Given the description of an element on the screen output the (x, y) to click on. 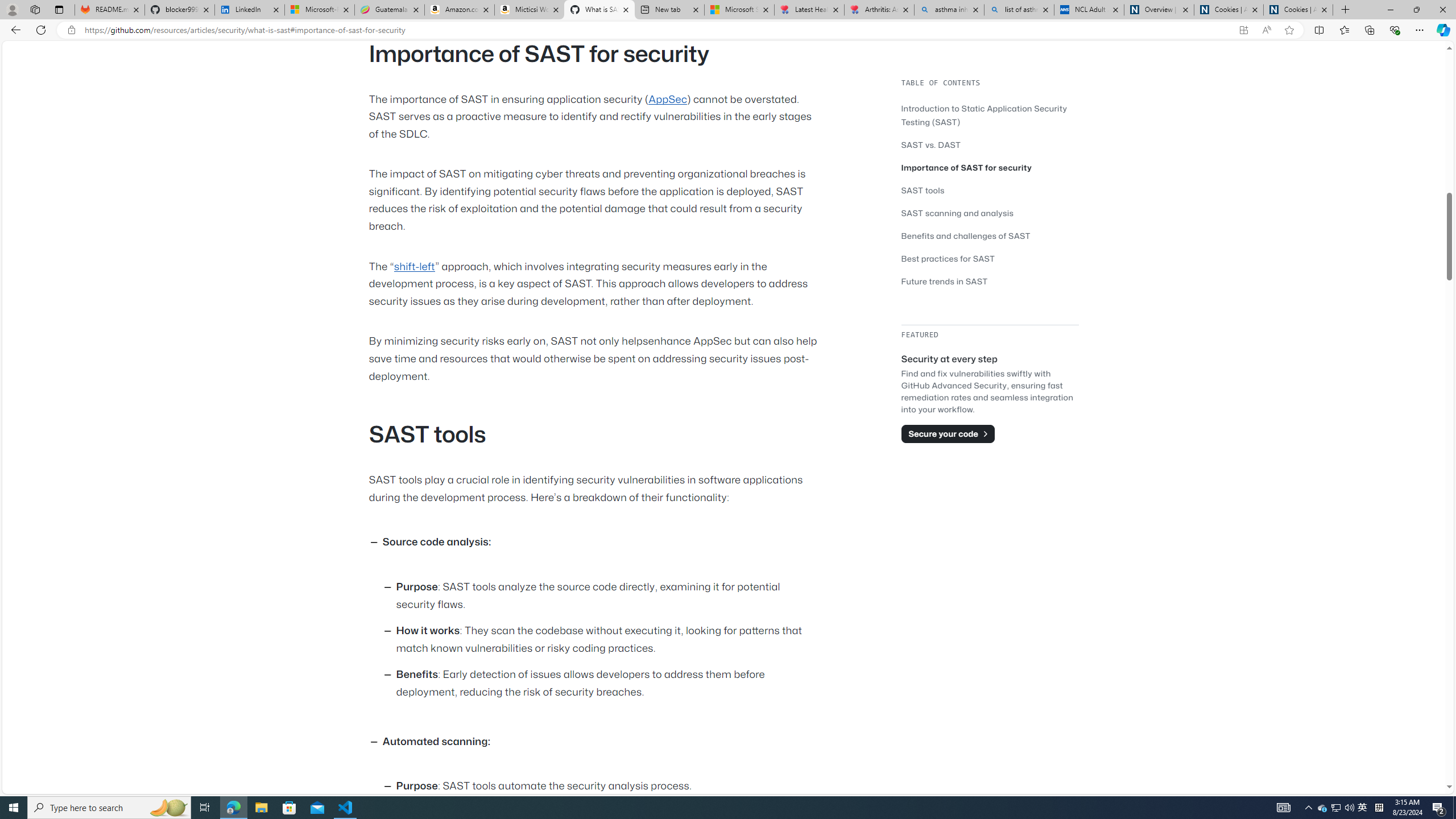
Future trends in SAST (944, 280)
Future trends in SAST (989, 281)
Best practices for SAST (989, 258)
Cookies | About | NICE (1297, 9)
SAST tools (922, 189)
